Given the description of an element on the screen output the (x, y) to click on. 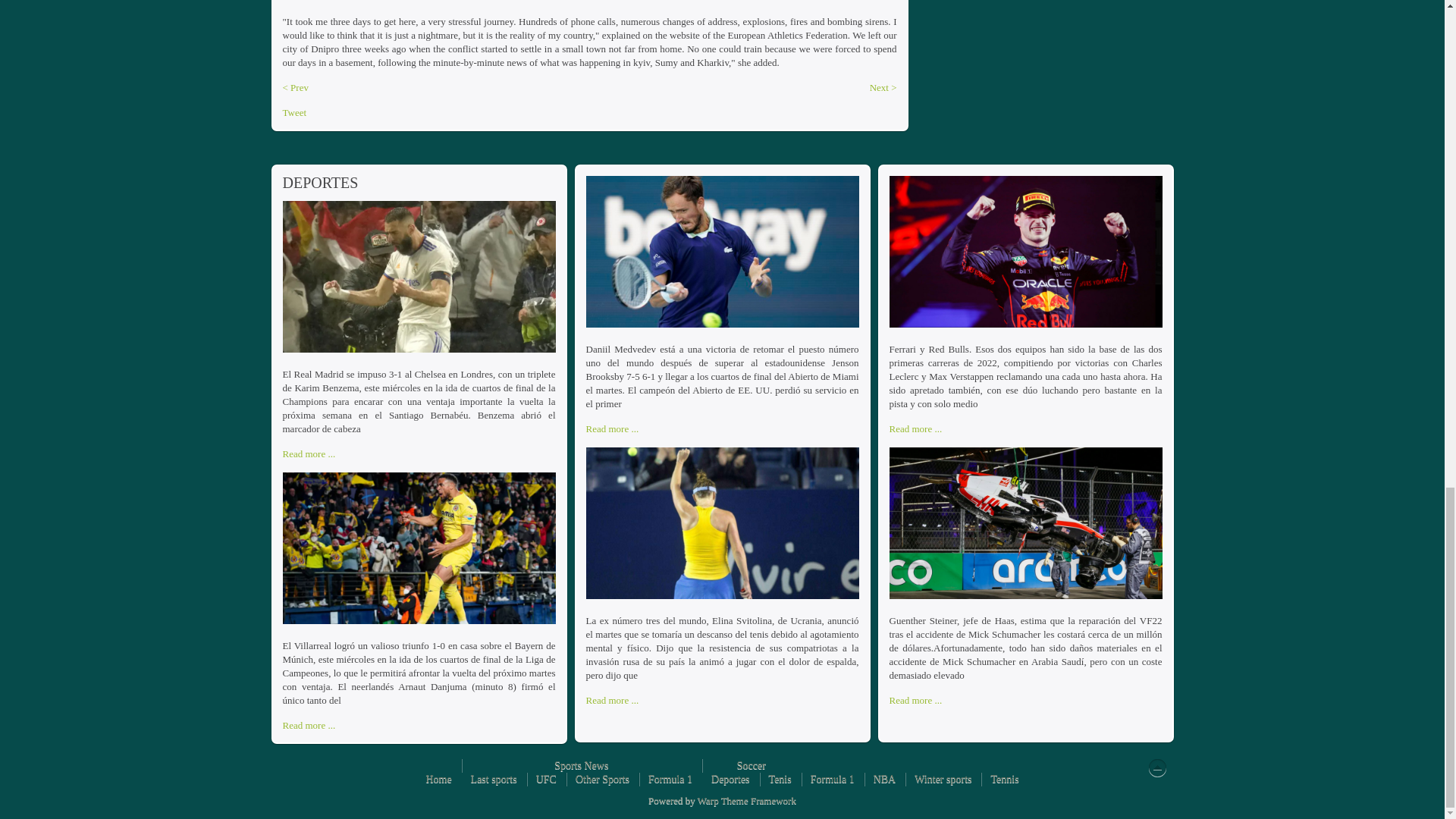
Tenis (780, 779)
Read more ... (612, 428)
Other Sports (601, 779)
Soccer (750, 766)
Read more ... (612, 700)
Tweet (293, 112)
Read more ... (308, 725)
Formula 1 (670, 779)
Winter sports (942, 779)
Read more ... (308, 454)
Sports News (581, 766)
Formula 1 (832, 779)
Tennis (1003, 779)
Read more ... (915, 428)
Last sports (493, 779)
